Given the description of an element on the screen output the (x, y) to click on. 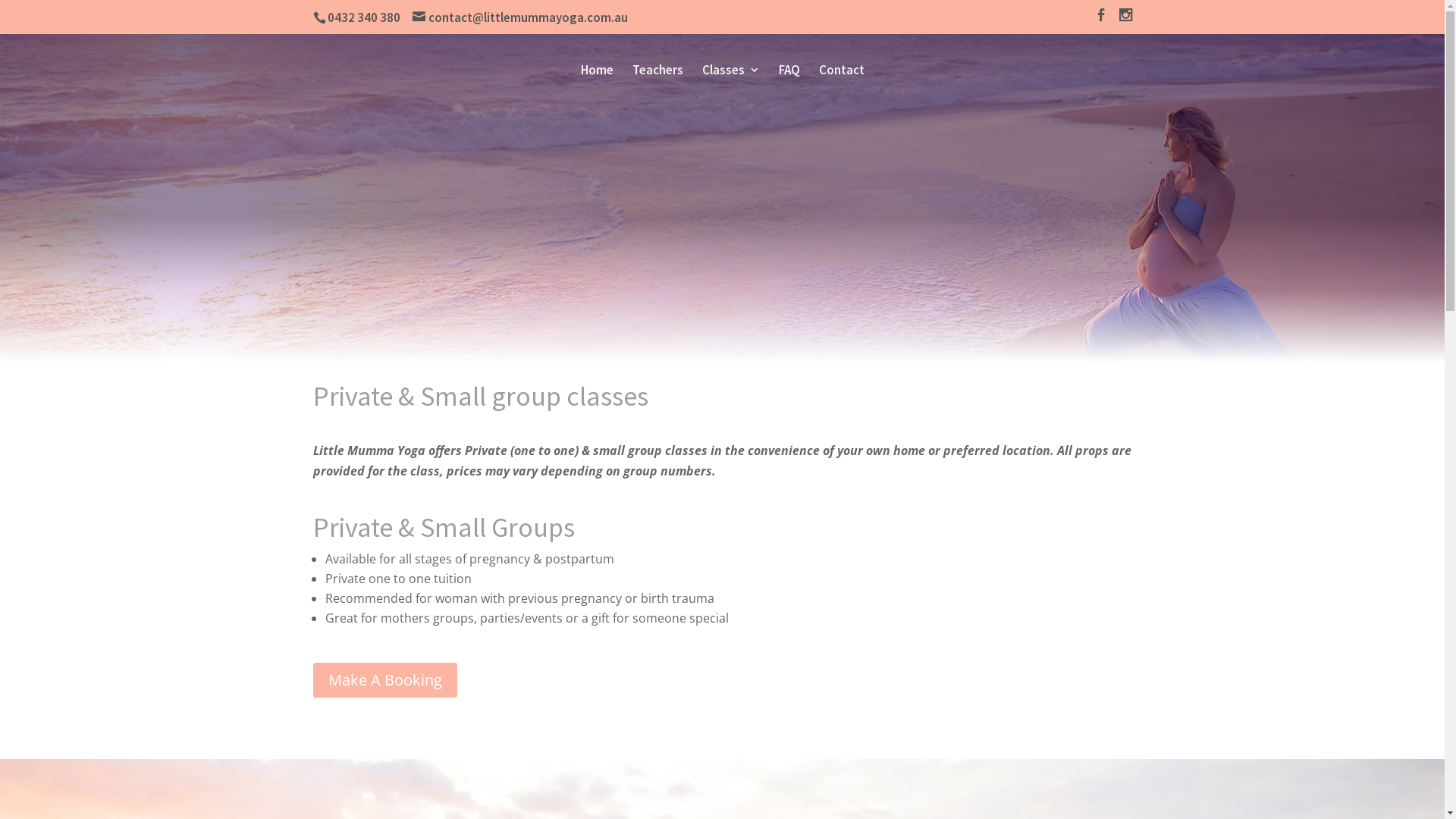
contact@littlemummayoga.com.au Element type: text (519, 17)
Teachers Element type: text (657, 72)
Home Element type: text (596, 72)
Make A Booking Element type: text (384, 679)
0432 340 380 Element type: text (360, 17)
Classes Element type: text (730, 72)
Contact Element type: text (841, 72)
FAQ Element type: text (788, 72)
